Given the description of an element on the screen output the (x, y) to click on. 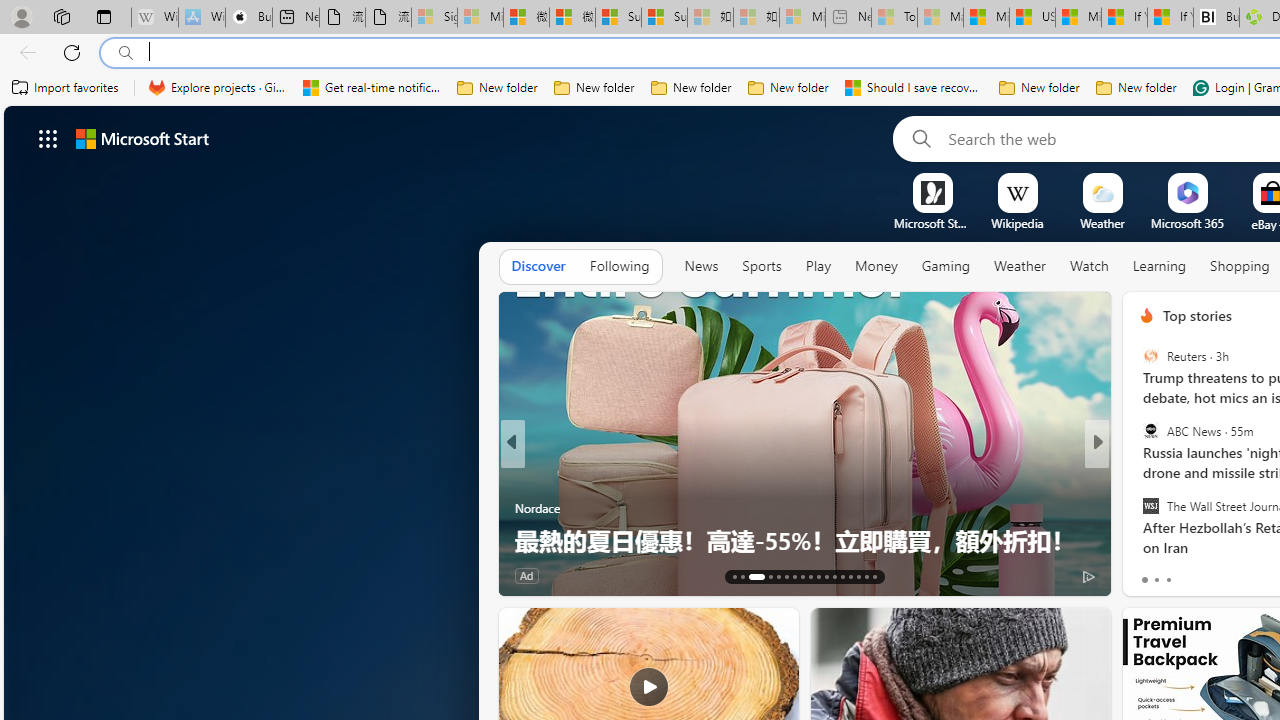
Top Stories - MSN - Sleeping (893, 17)
Microsoft account | Account Checkup - Sleeping (802, 17)
Gaming (945, 267)
Sports (761, 265)
Buy iPad - Apple (249, 17)
Sign in to your Microsoft account - Sleeping (434, 17)
Search icon (125, 53)
View comments 22 Comment (1234, 575)
AutomationID: tab-22 (818, 576)
View comments 147 Comment (632, 574)
Play (818, 267)
New folder (1136, 88)
